Given the description of an element on the screen output the (x, y) to click on. 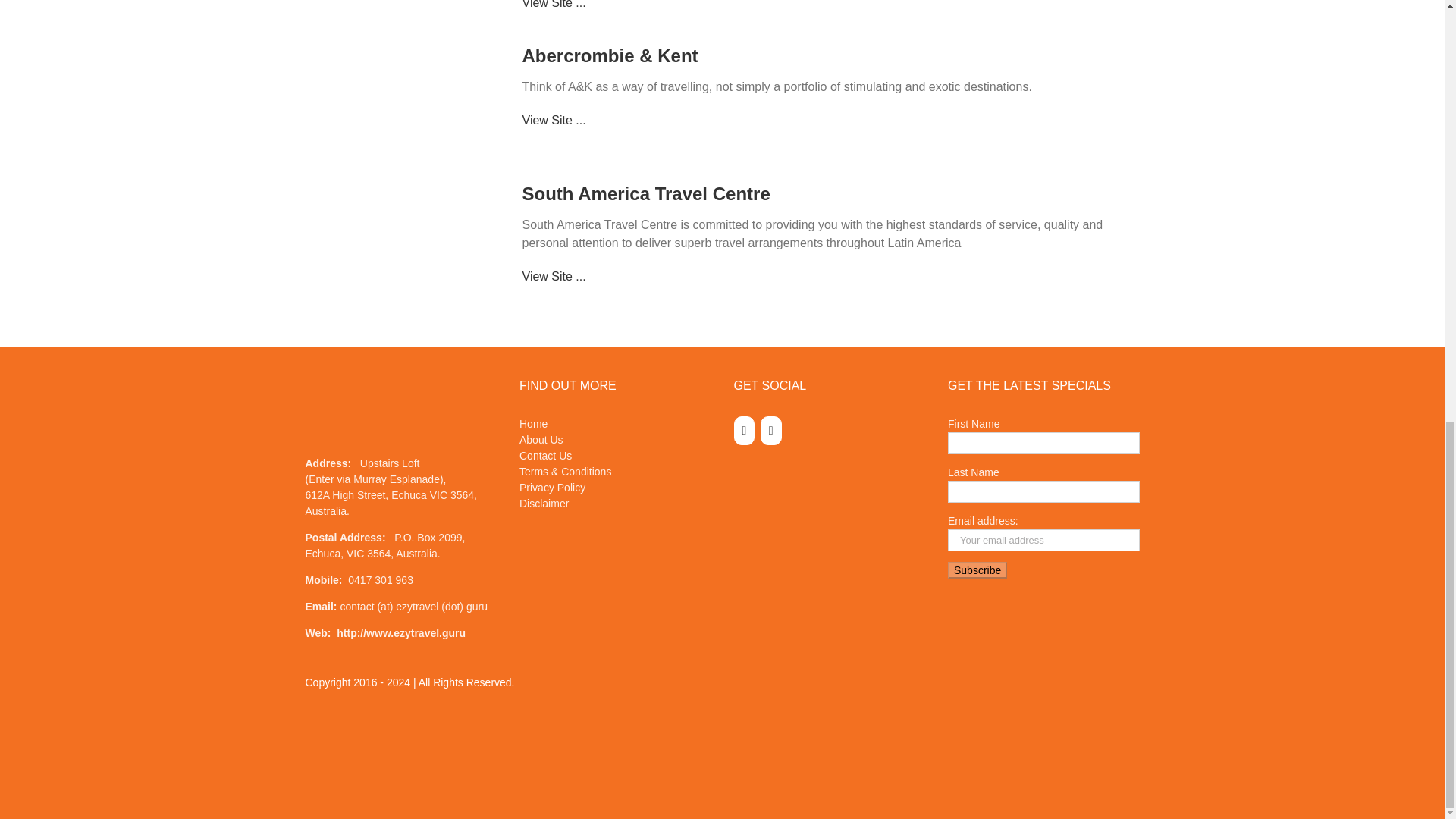
Subscribe (977, 569)
